Given the description of an element on the screen output the (x, y) to click on. 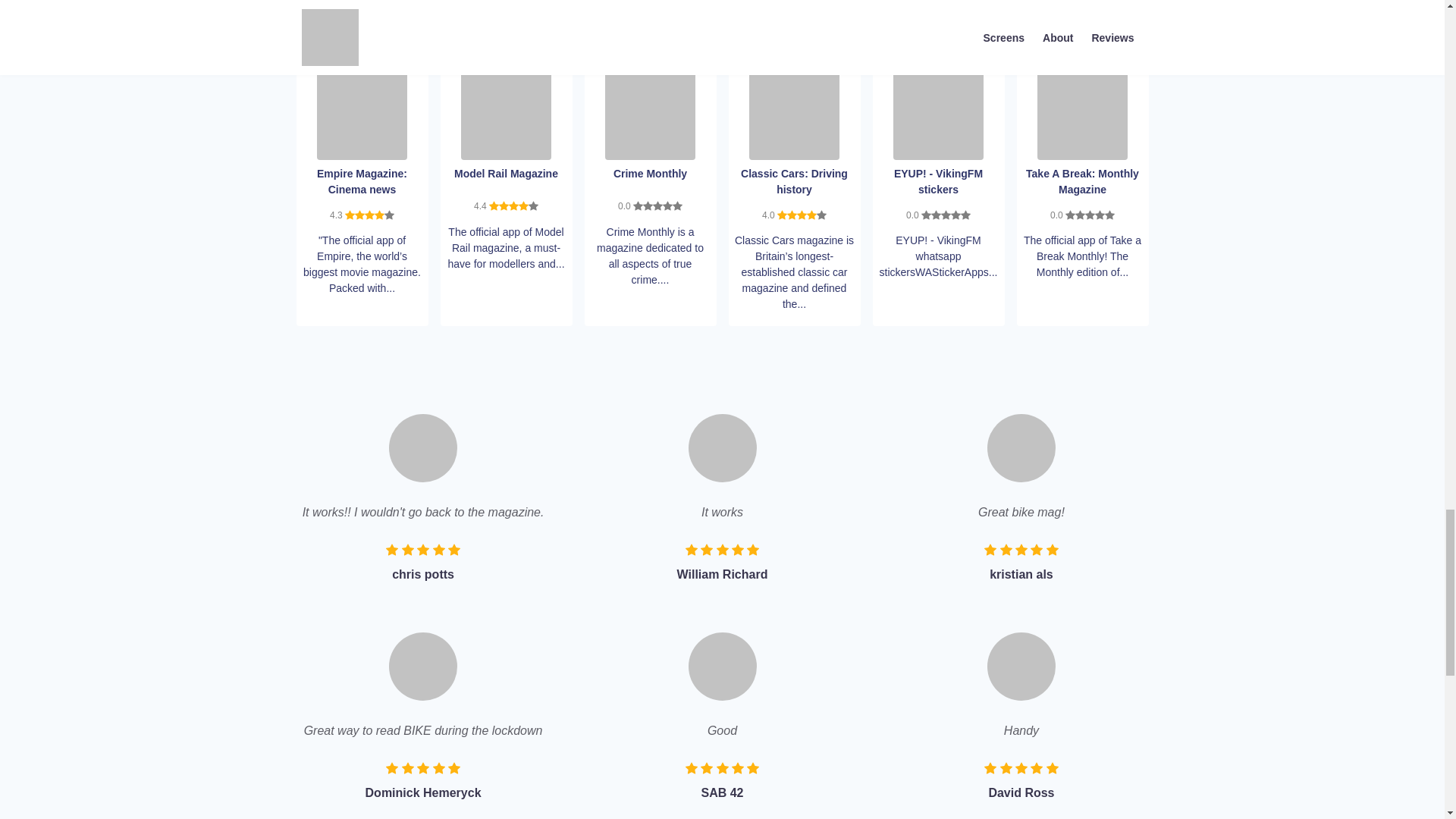
Empire Magazine: Cinema news (362, 112)
Crime Monthly (650, 112)
Classic Cars: Driving history (794, 112)
Model Rail Magazine (506, 112)
EYUP! - VikingFM stickers (938, 112)
Take A Break: Monthly Magazine (1081, 112)
